Given the description of an element on the screen output the (x, y) to click on. 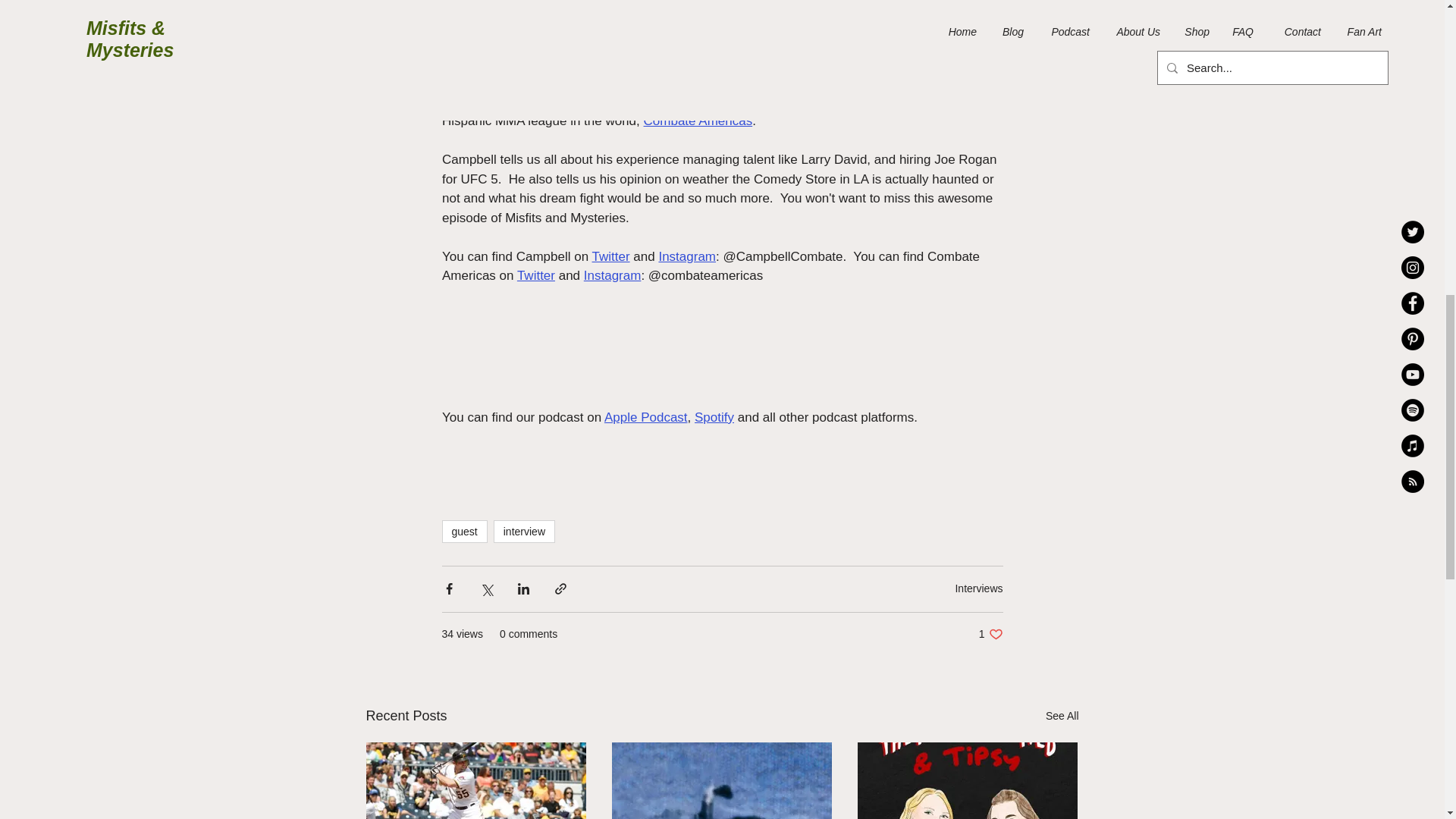
Apple Podcast (645, 416)
Twitter (609, 255)
Instagram (611, 275)
guest (463, 531)
Bigfoot the Movie (762, 63)
interview (523, 531)
Spotify (713, 416)
Combate Americas (697, 120)
Twitter (535, 275)
remote content (722, 365)
